Given the description of an element on the screen output the (x, y) to click on. 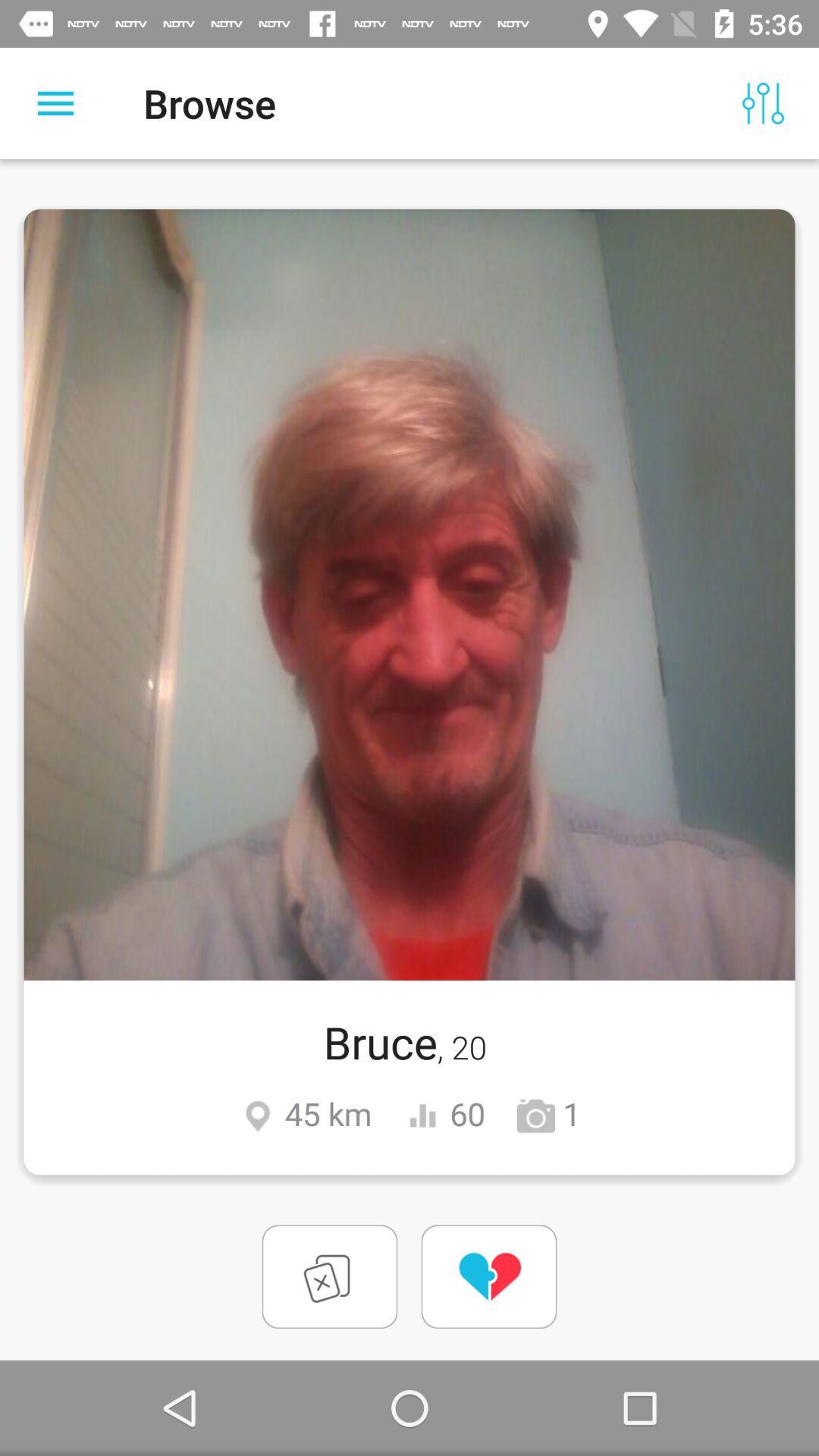
press item to the right of browse item (763, 103)
